Given the description of an element on the screen output the (x, y) to click on. 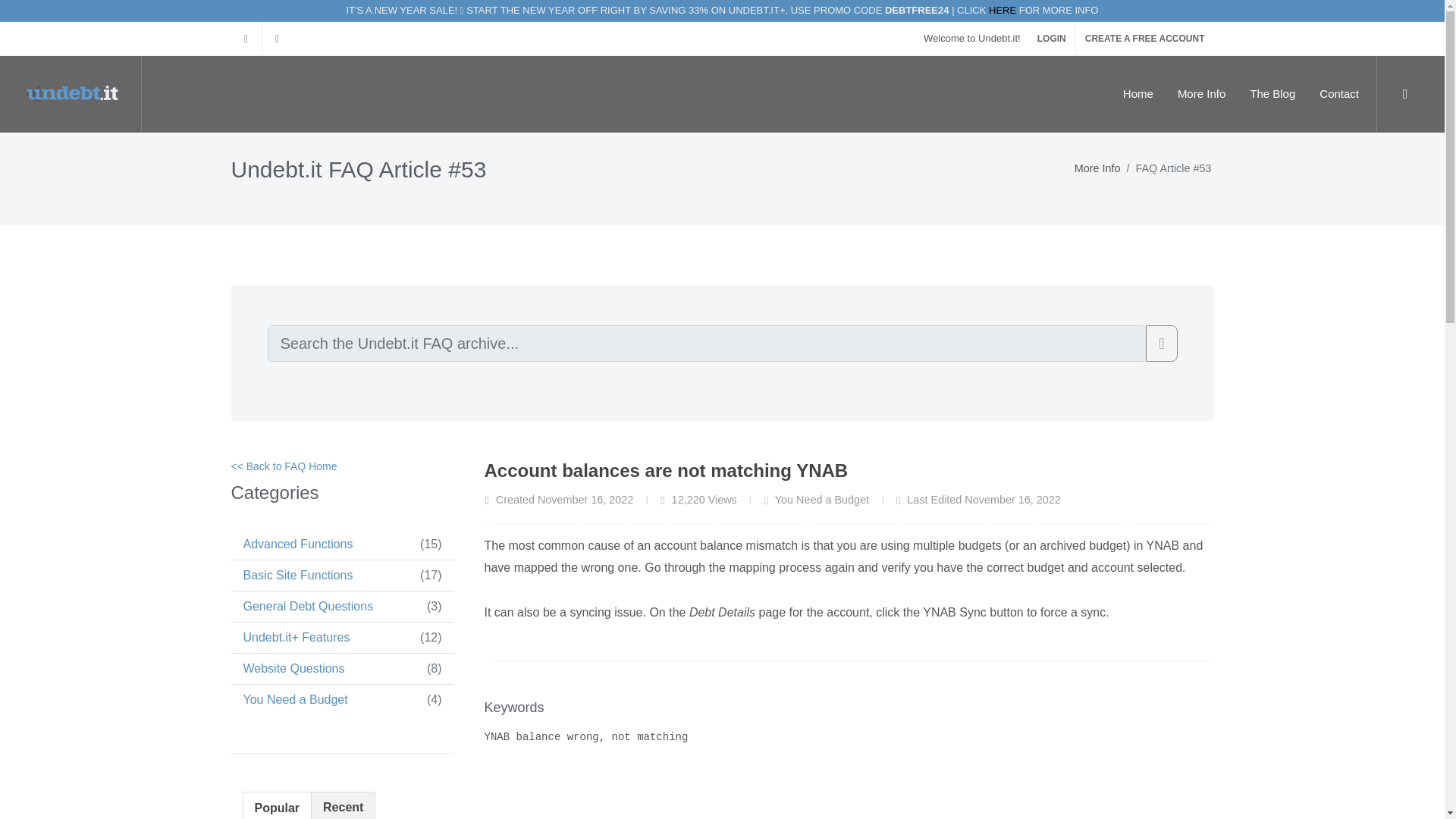
HERE (1002, 9)
CREATE A FREE ACCOUNT (1144, 37)
Home (1138, 93)
More Info (1201, 93)
LOGIN (1051, 37)
The Blog (1272, 93)
